Given the description of an element on the screen output the (x, y) to click on. 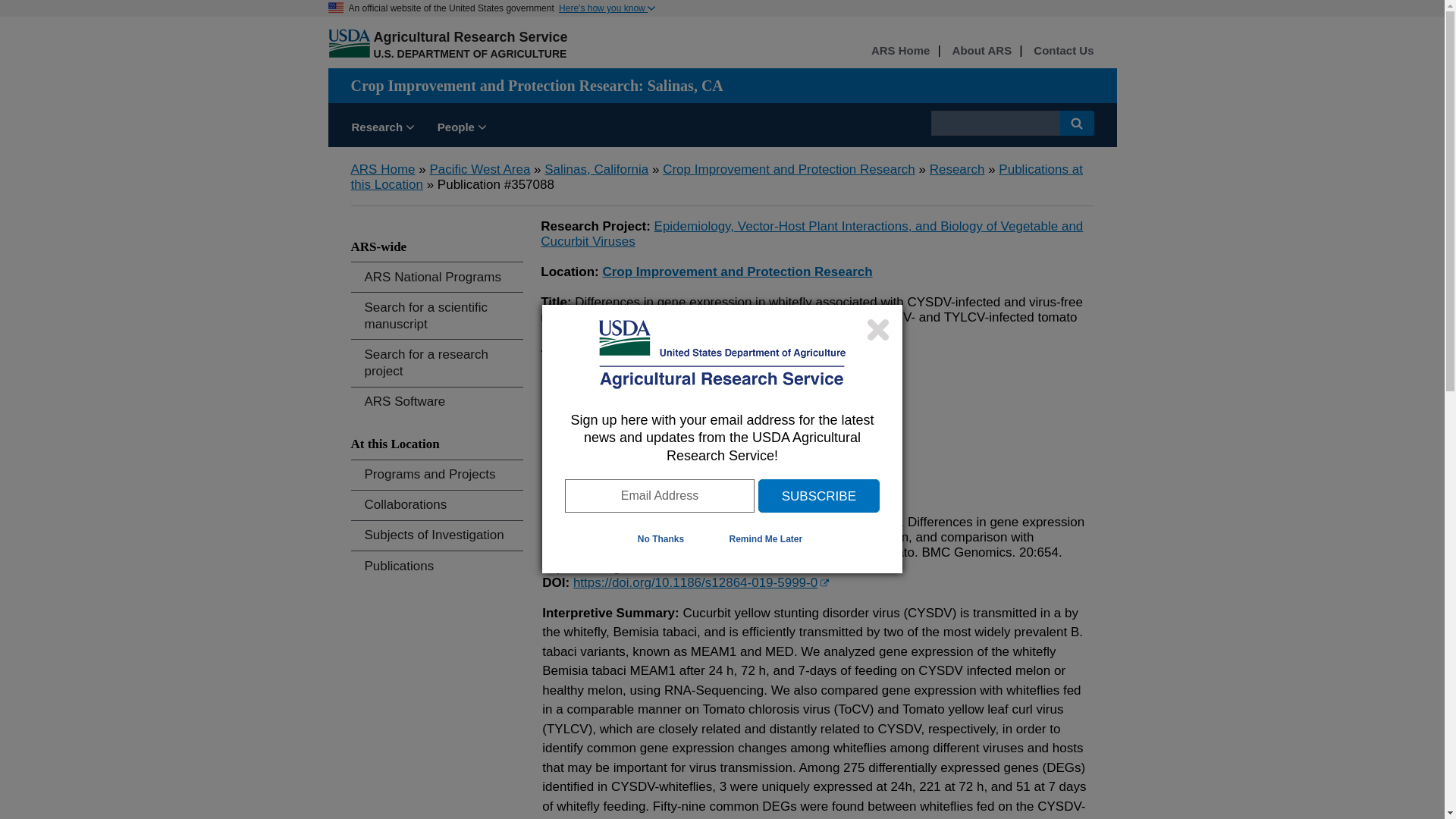
Subjects of Investigation (436, 535)
People (461, 128)
Publications at this Location (715, 176)
search (995, 122)
About ARS (981, 50)
Research (957, 169)
Contact Us (1063, 50)
Agricultural Research Service Home (469, 37)
About ARS (981, 50)
Research (382, 128)
Search for a research project (436, 362)
ARS Home (382, 169)
Collaborations (436, 505)
U.S. DEPARTMENT OF AGRICULTURE (469, 53)
Publications (436, 565)
